Given the description of an element on the screen output the (x, y) to click on. 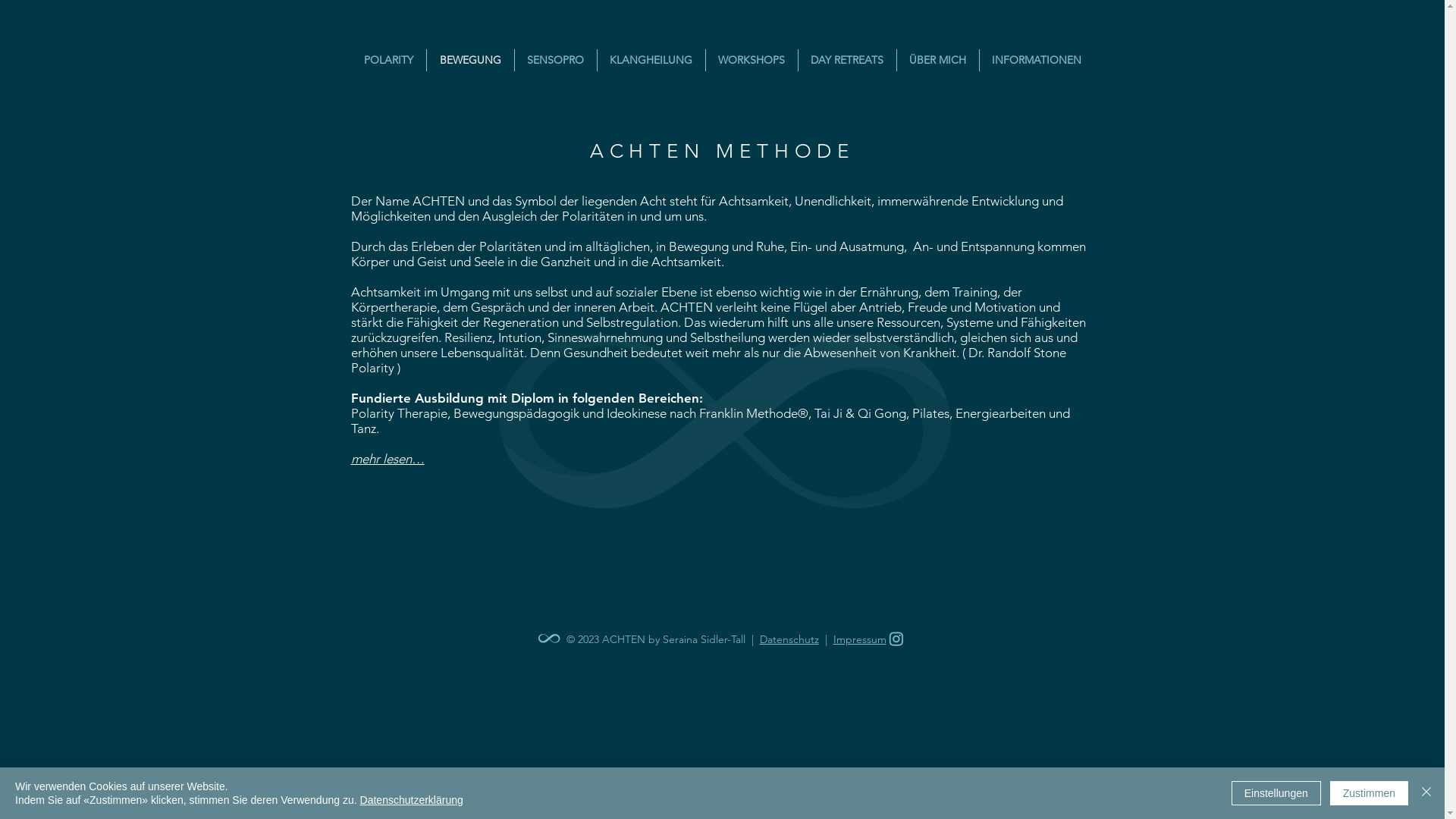
POLARITY Element type: text (387, 60)
WORKSHOPS Element type: text (751, 60)
Zustimmen Element type: text (1369, 793)
SENSOPRO Element type: text (555, 60)
INFORMATIONEN Element type: text (1036, 60)
Impressum Element type: text (858, 639)
KLANGHEILUNG Element type: text (651, 60)
BEWEGUNG Element type: text (469, 60)
DAY RETREATS Element type: text (846, 60)
Datenschutz Element type: text (789, 639)
Einstellungen Element type: text (1276, 793)
